Given the description of an element on the screen output the (x, y) to click on. 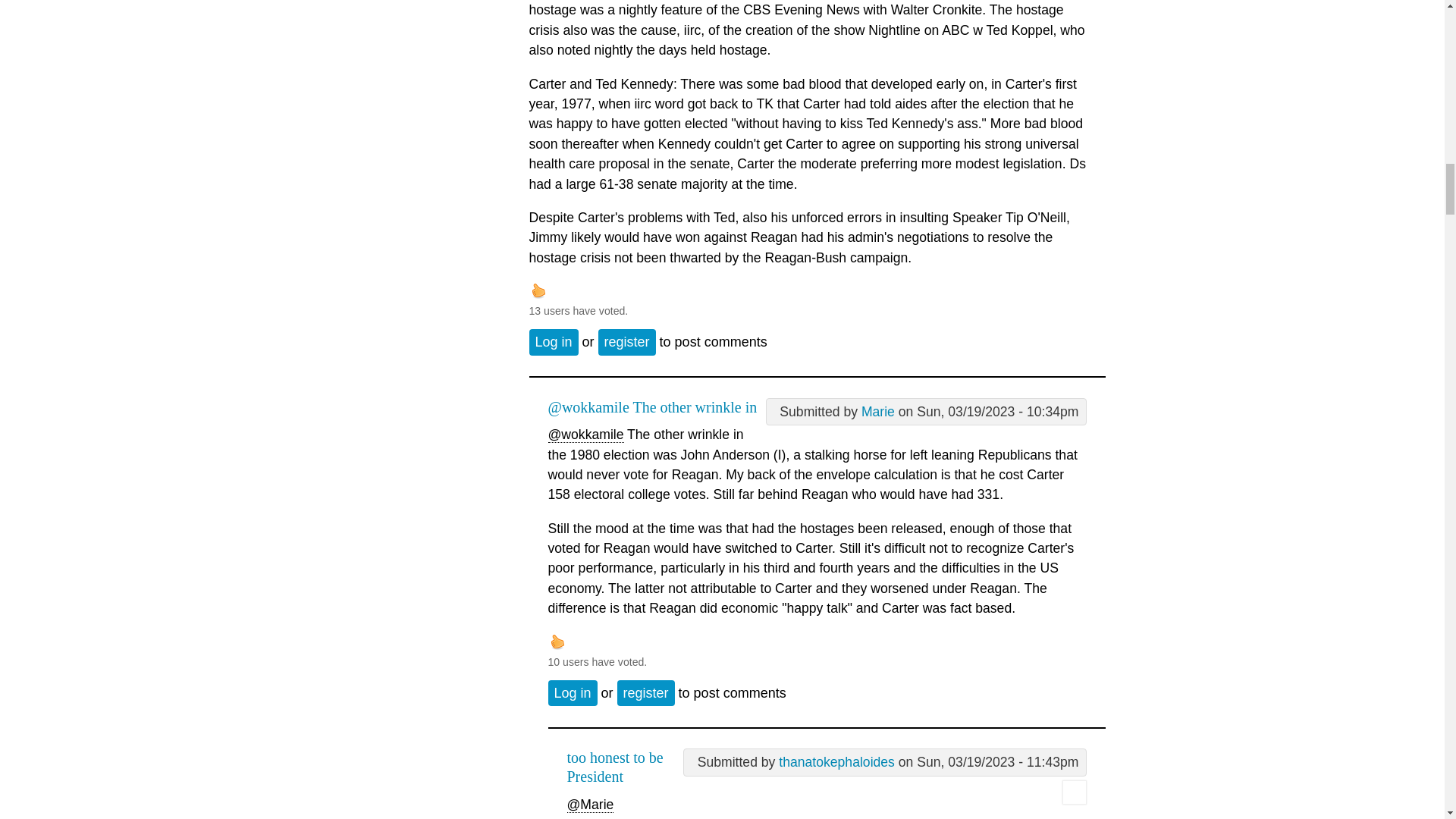
View user profile. (836, 761)
Log in (553, 341)
View user profile. (878, 411)
